Given the description of an element on the screen output the (x, y) to click on. 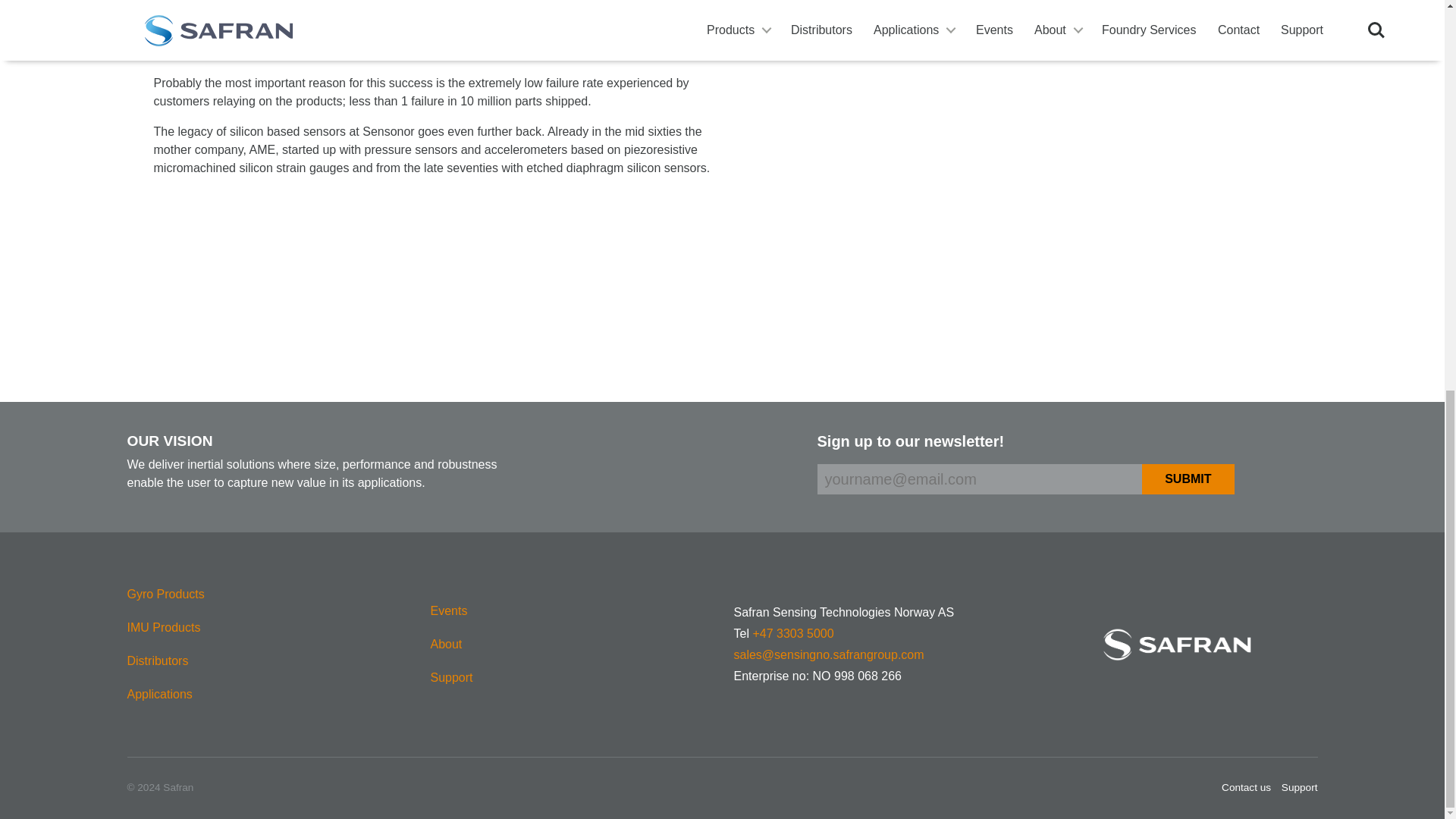
Support (451, 677)
Inertial measurement units (164, 627)
Industrial (160, 694)
Gyro Modules (166, 594)
About us (446, 644)
Submit (1187, 479)
Events (448, 611)
Distributors (158, 661)
